Given the description of an element on the screen output the (x, y) to click on. 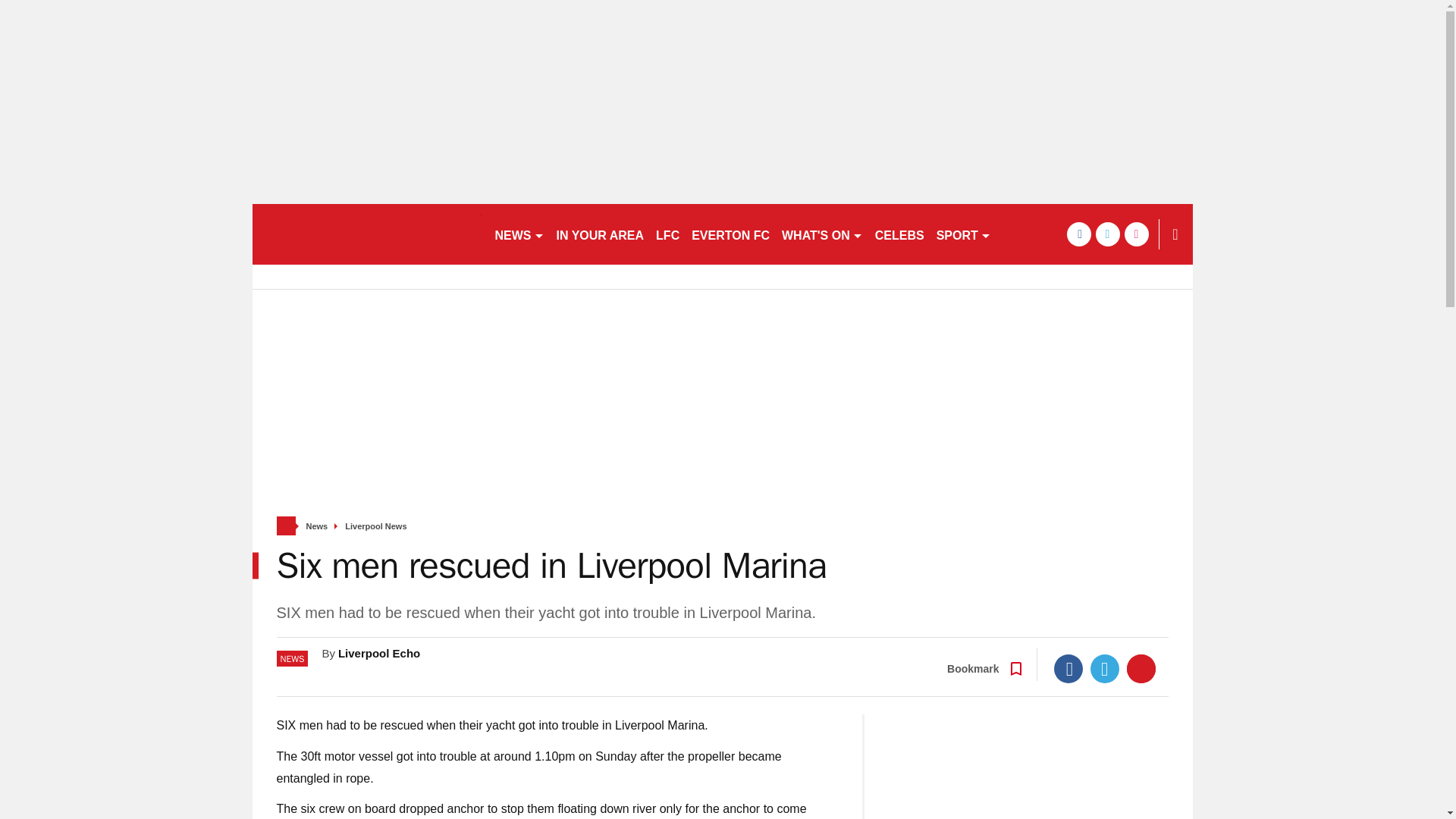
facebook (1077, 233)
WHAT'S ON (822, 233)
EVERTON FC (730, 233)
NEWS (518, 233)
CELEBS (899, 233)
liverpoolecho (365, 233)
instagram (1136, 233)
IN YOUR AREA (600, 233)
Facebook (1068, 668)
twitter (1106, 233)
